Given the description of an element on the screen output the (x, y) to click on. 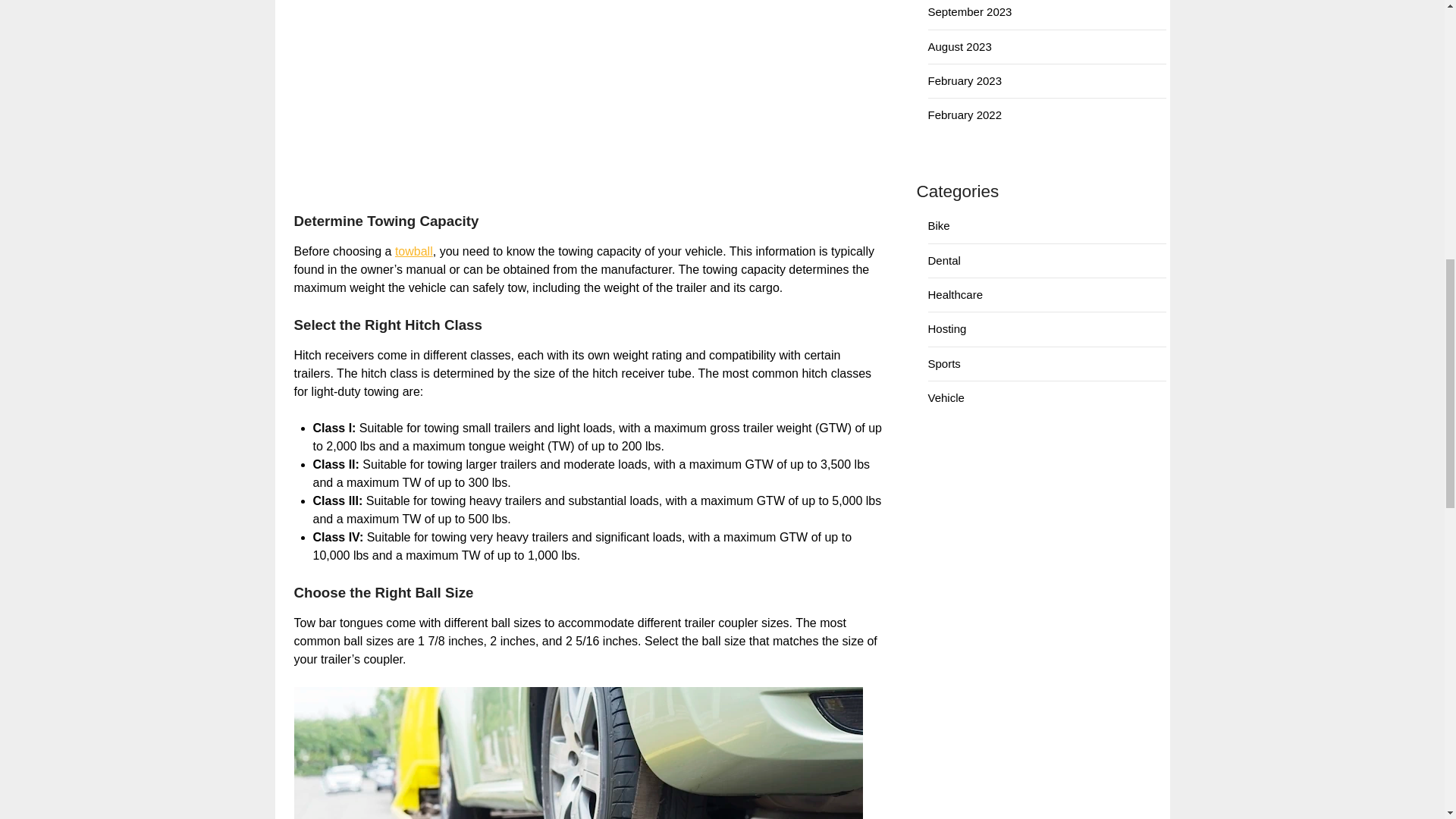
August 2023 (959, 46)
Sports (944, 363)
Dental (944, 259)
February 2023 (965, 80)
Healthcare (956, 294)
towball (413, 250)
Vehicle (945, 397)
Bike (939, 225)
September 2023 (969, 11)
